Given the description of an element on the screen output the (x, y) to click on. 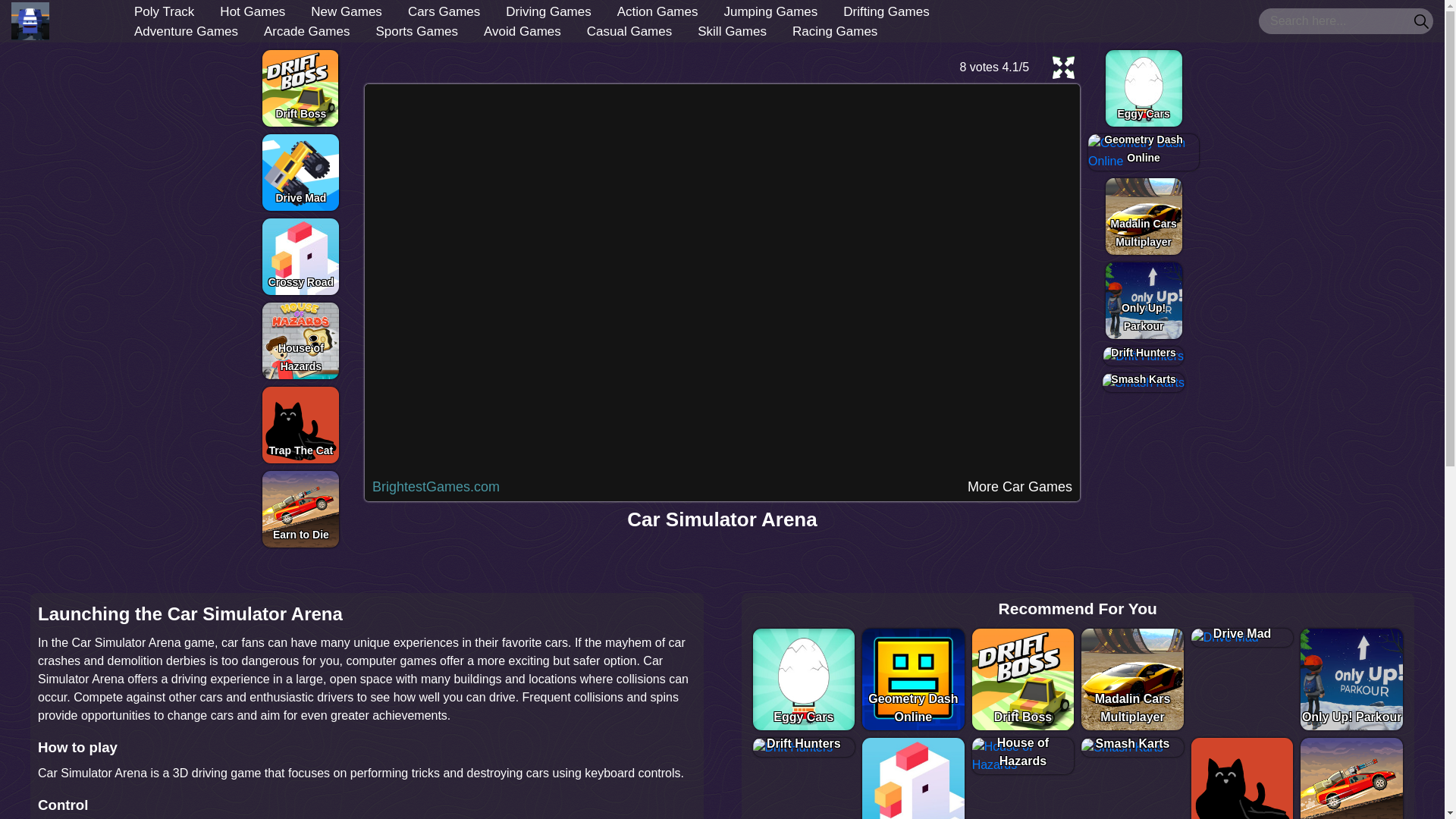
Skill Games (732, 30)
Trap The Cat (300, 424)
Poly Track (164, 11)
Trap The Cat (300, 424)
Driving Games (547, 11)
Casual Games (629, 30)
Action Games (657, 11)
Arcade Games (306, 30)
Drift Boss (300, 87)
Crossy Road (300, 256)
